Given the description of an element on the screen output the (x, y) to click on. 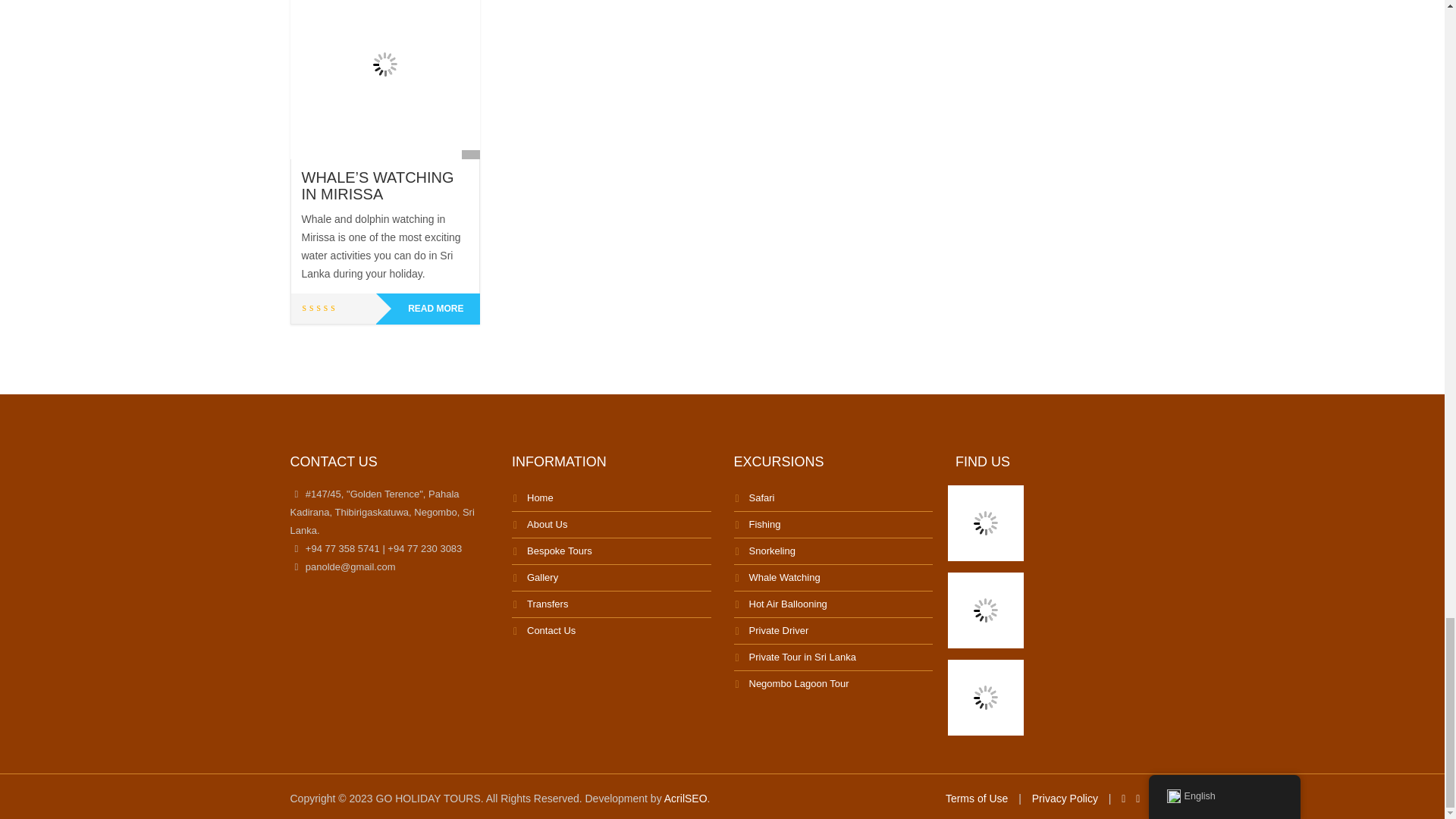
READ MORE (427, 308)
